Given the description of an element on the screen output the (x, y) to click on. 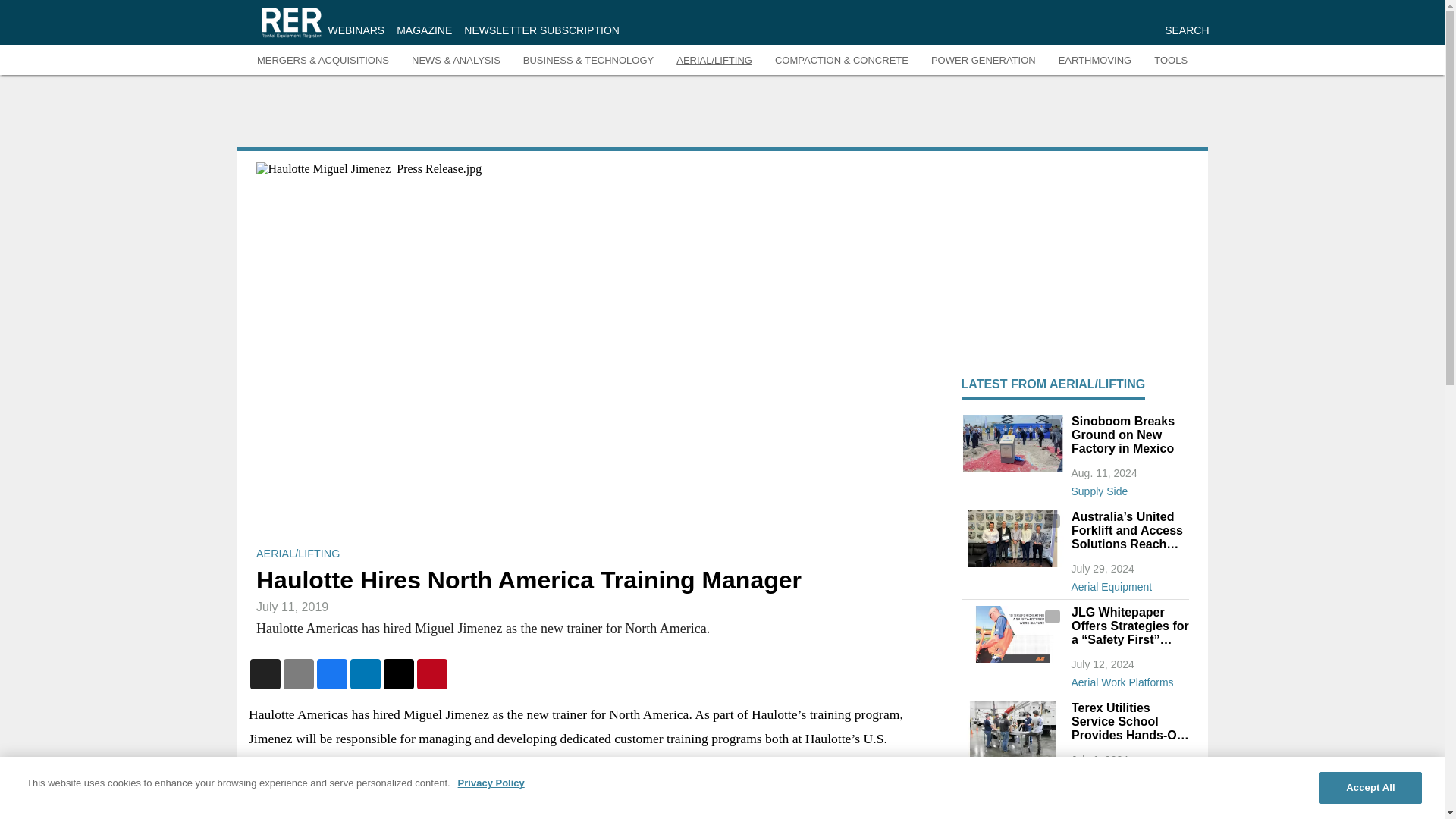
SEARCH (1186, 30)
NEWSLETTER SUBSCRIPTION (542, 30)
EARTHMOVING (1095, 60)
Aerial Work Platforms (1129, 679)
Supply Side (1129, 488)
TOOLS (1171, 60)
POWER GENERATION (983, 60)
Aerial Equipment (1129, 583)
Headline News (1129, 774)
